Given the description of an element on the screen output the (x, y) to click on. 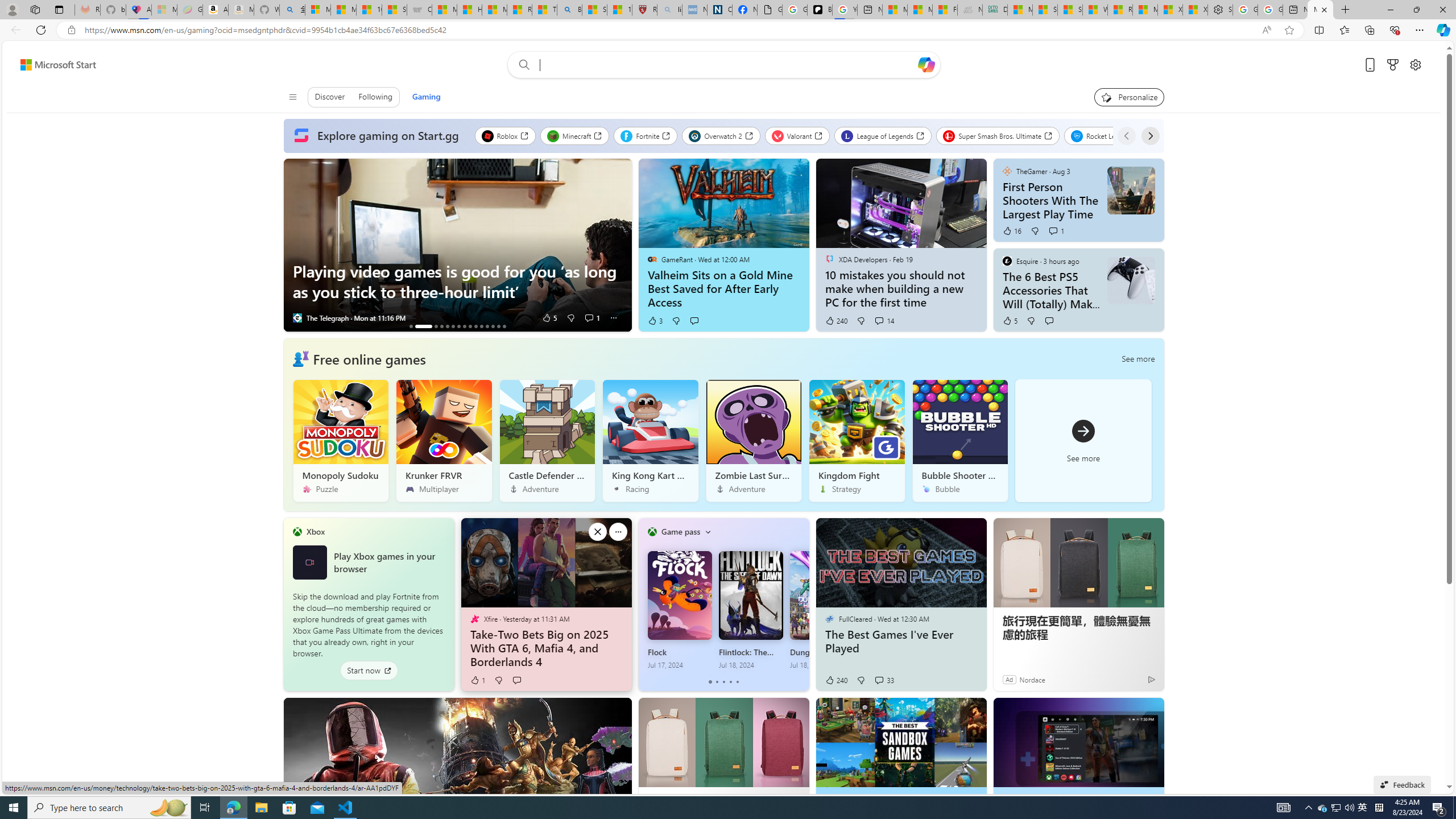
Nordace (1032, 678)
Xfire (474, 618)
Flintlock: The Siege of Dawn Jul 18, 2024 (750, 610)
Web search (520, 64)
America's Three Biggest Addictions (411, 326)
NCL Adult Asthma Inhaler Choice Guideline - Sleeping (694, 9)
App bar (728, 29)
Navy Quest (969, 9)
Class: control icon-only (292, 97)
Explore gaming on Start.gg (378, 135)
